Given the description of an element on the screen output the (x, y) to click on. 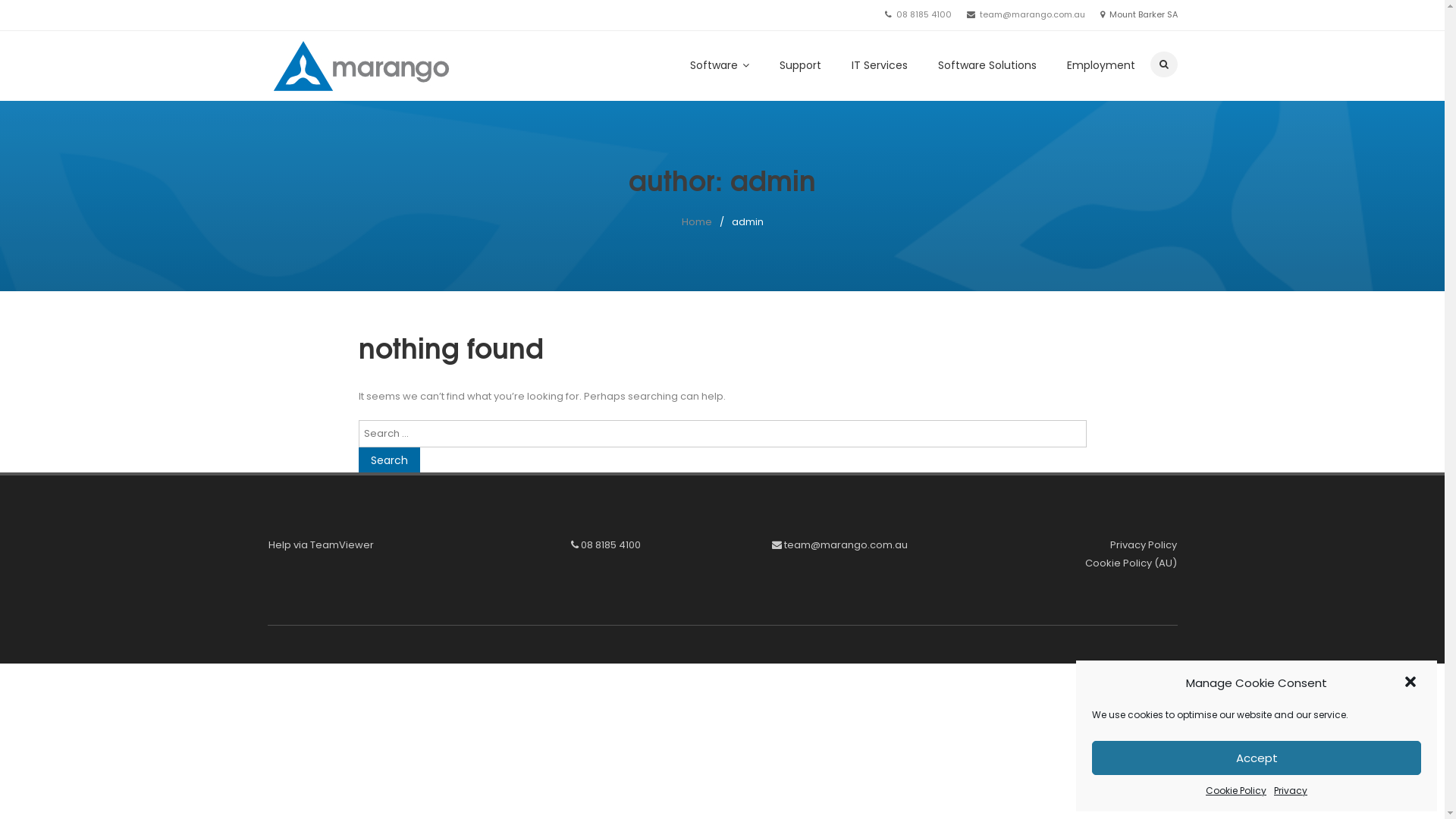
Support Element type: text (800, 64)
Marango Element type: text (317, 106)
team@marango.com.au Element type: text (1032, 14)
IT Services Element type: text (878, 64)
Home Element type: text (695, 221)
team@marango.com.au Element type: text (845, 544)
Accept Element type: text (1256, 757)
Search Element type: text (388, 459)
08 8185 4100 Element type: text (923, 14)
Cookie Policy Element type: text (1235, 790)
Cookie Policy (AU) Element type: text (1130, 562)
Software Solutions Element type: text (986, 64)
08 8185 4100 Element type: text (610, 544)
Privacy Policy Element type: text (1143, 544)
Search Element type: text (1134, 105)
Privacy Element type: text (1290, 790)
Software Element type: text (719, 64)
Help via TeamViewer Element type: text (320, 544)
Employment Element type: text (1100, 64)
